Given the description of an element on the screen output the (x, y) to click on. 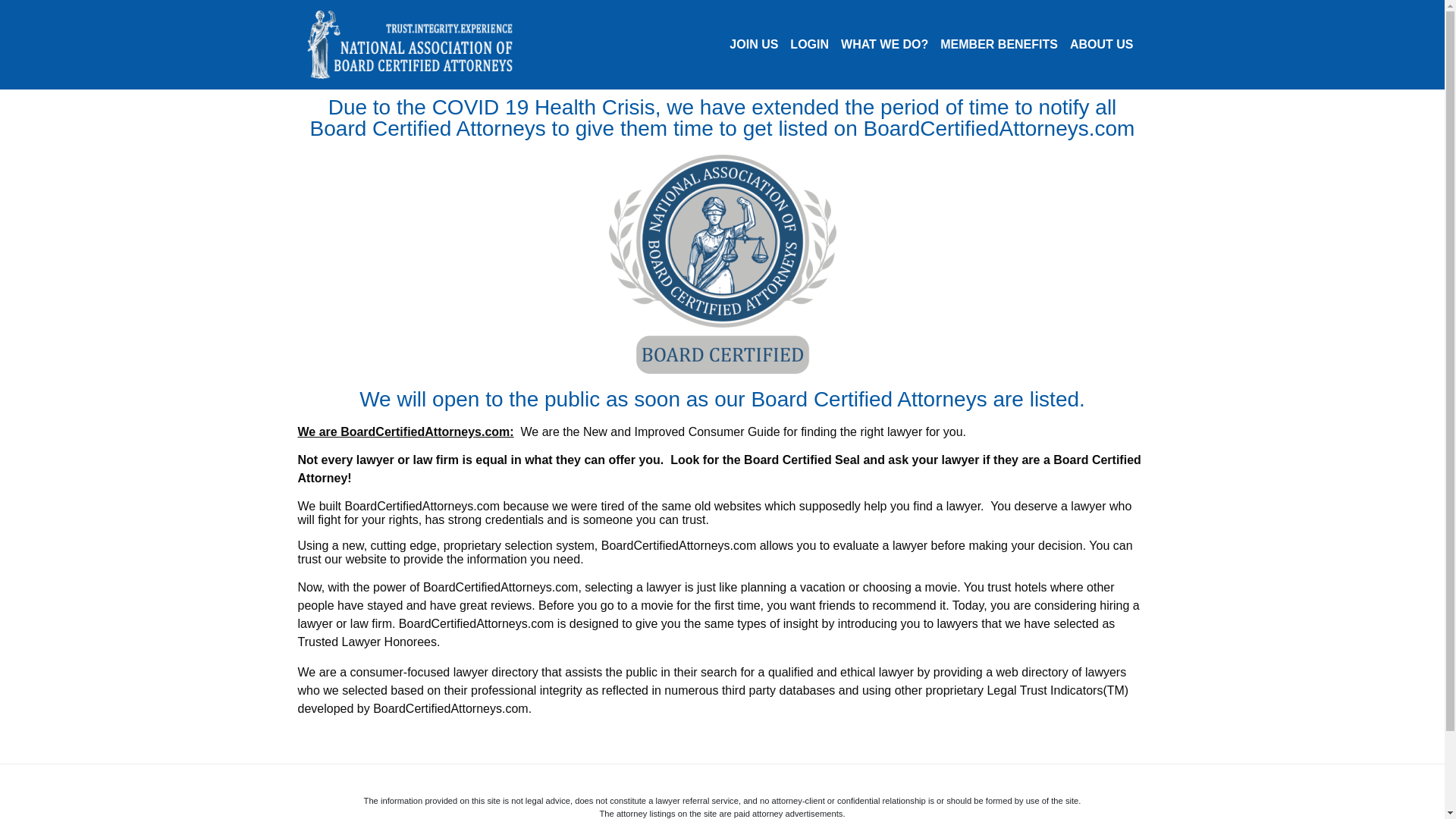
WHAT WE DO? (884, 44)
JOIN US (753, 44)
ABOUT US (1102, 44)
MEMBER BENEFITS (999, 44)
LOGIN (809, 44)
